Given the description of an element on the screen output the (x, y) to click on. 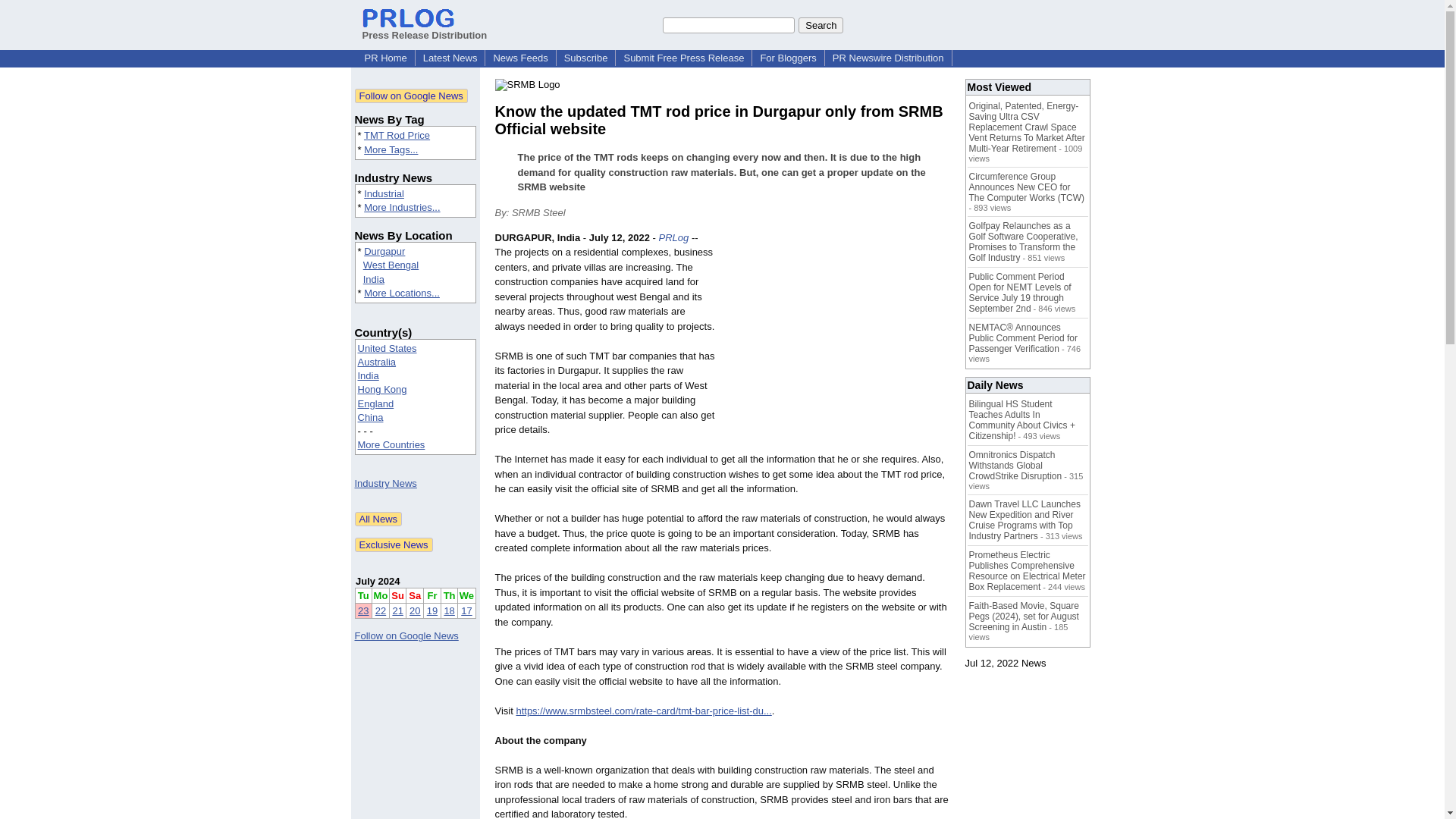
Follow on Google News (411, 95)
For Bloggers (788, 57)
China (371, 417)
United States (387, 348)
Latest News (449, 57)
More Locations... (401, 292)
Press Release Distribution (424, 29)
17 (466, 610)
Hong Kong (382, 389)
England (376, 403)
PRLog (673, 237)
Durgapur (384, 251)
Industry News (385, 482)
TMT Rod Price (396, 134)
Submit Free Press Release (683, 57)
